Given the description of an element on the screen output the (x, y) to click on. 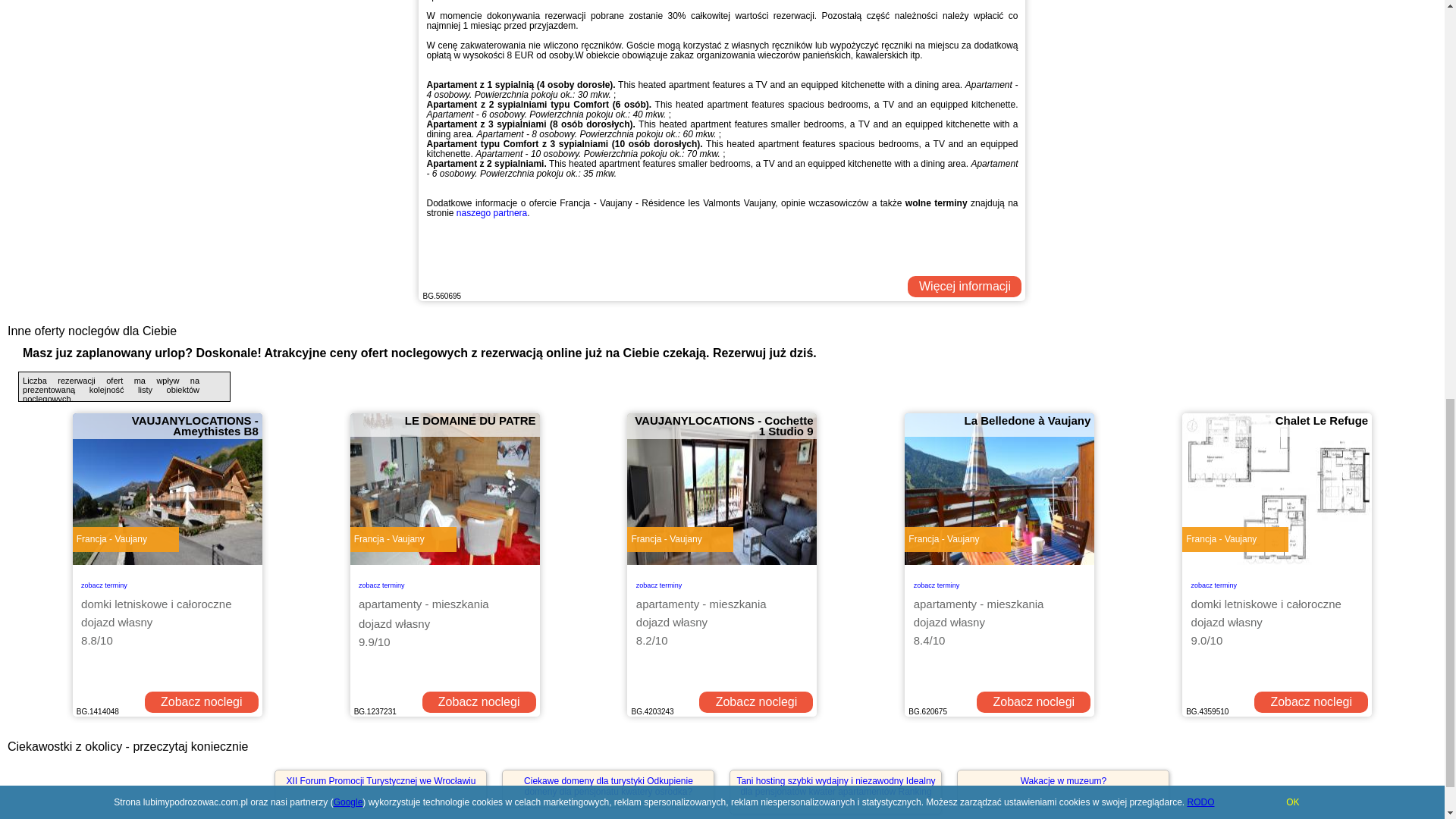
zobacz terminy (381, 583)
naszego partnera (492, 213)
Zobacz noclegi (201, 701)
Zobacz noclegi (1310, 701)
Wczasy - Francja (964, 286)
zobacz terminy (659, 583)
zobacz terminy (1214, 583)
Zobacz noclegi (1033, 701)
Zobacz noclegi (478, 701)
zobacz terminy (936, 583)
